Given the description of an element on the screen output the (x, y) to click on. 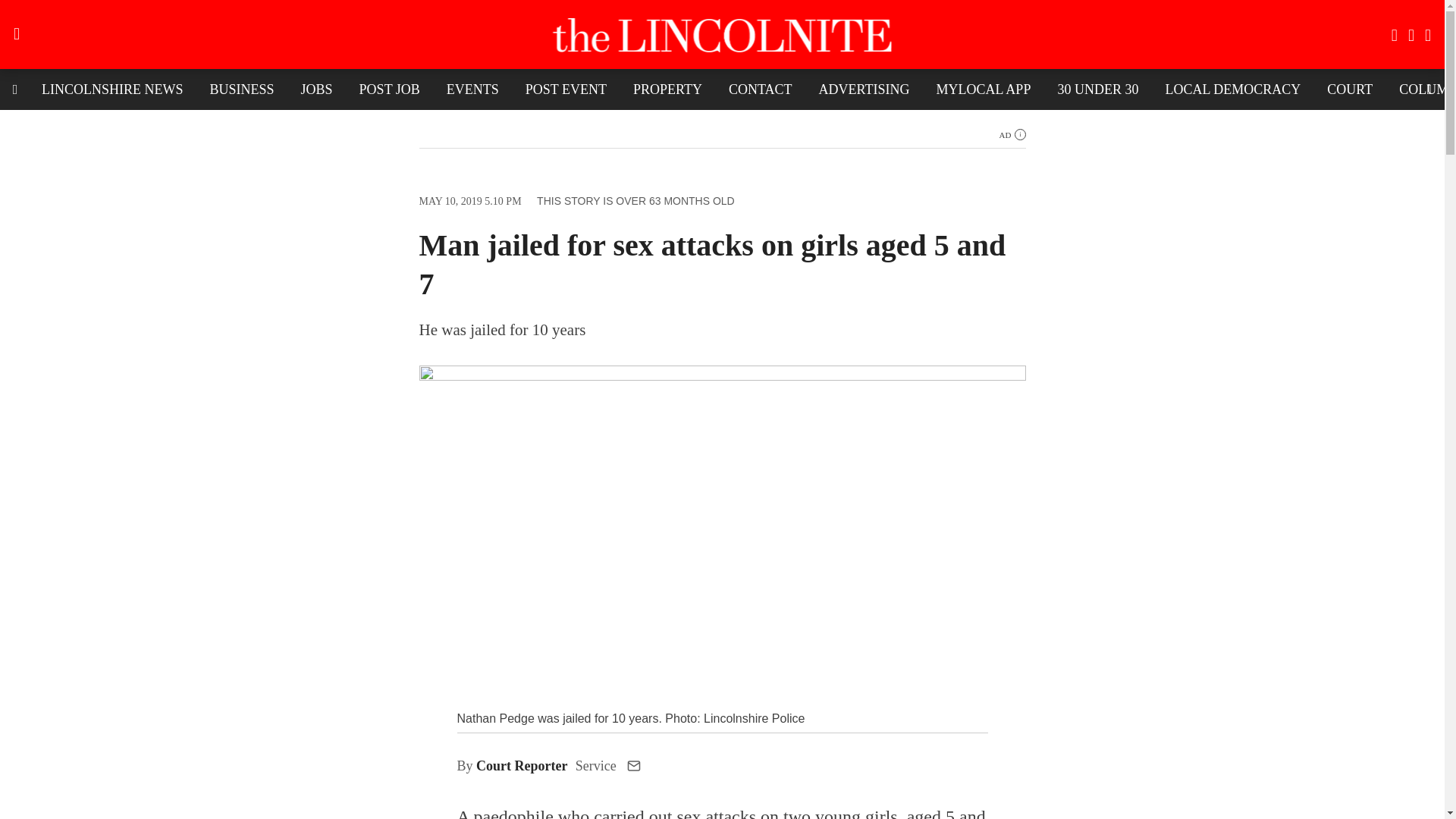
BUSINESS (241, 88)
MYLOCAL APP (983, 88)
JOBS (316, 88)
POST EVENT (565, 88)
ADVERTISING (864, 88)
PROPERTY (667, 88)
30 UNDER 30 (1097, 88)
LINCOLNSHIRE NEWS (112, 88)
Contact author (633, 766)
